Given the description of an element on the screen output the (x, y) to click on. 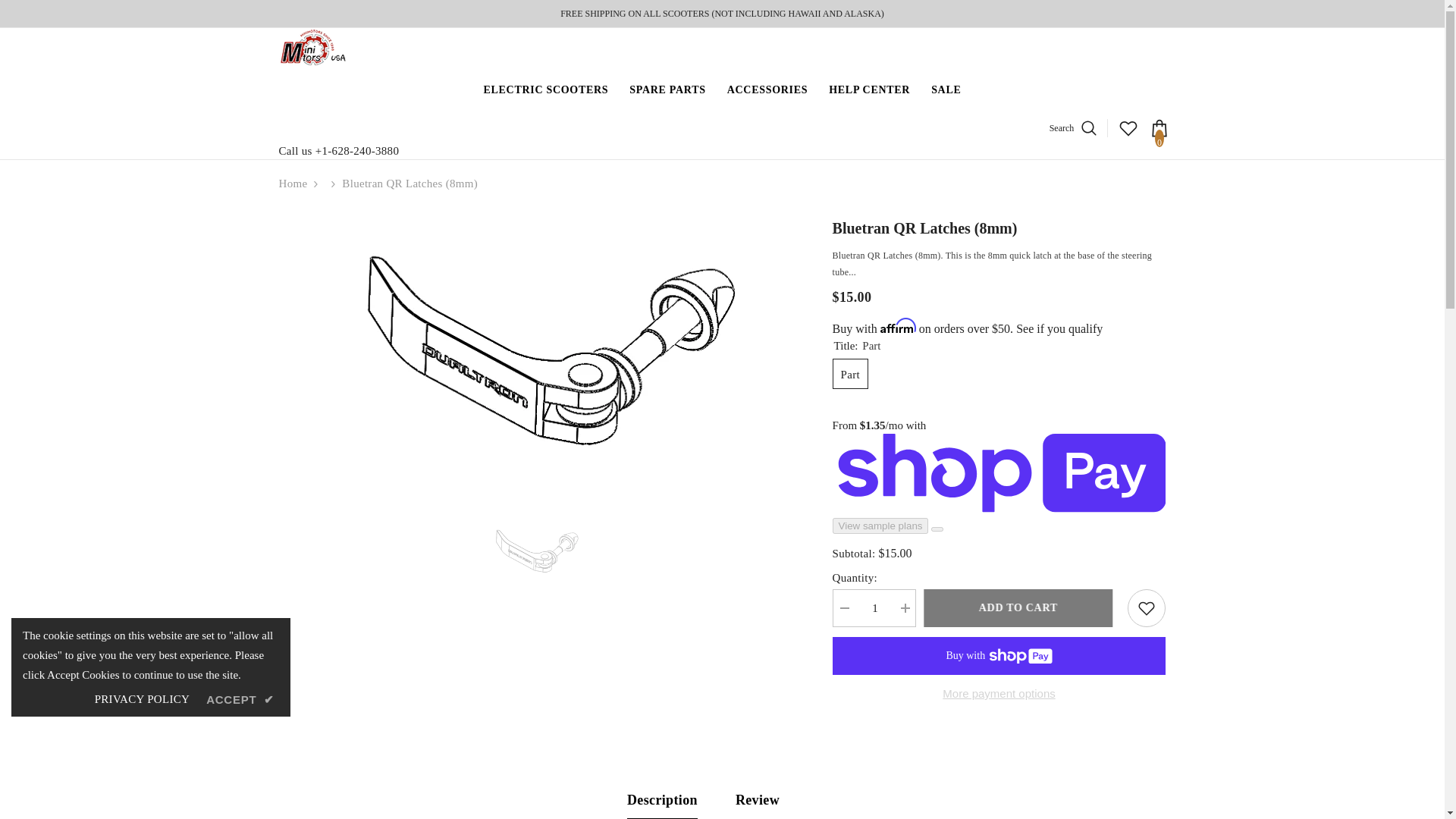
ELECTRIC SCOOTERS (546, 101)
1 (873, 607)
SPARE PARTS (667, 97)
